Given the description of an element on the screen output the (x, y) to click on. 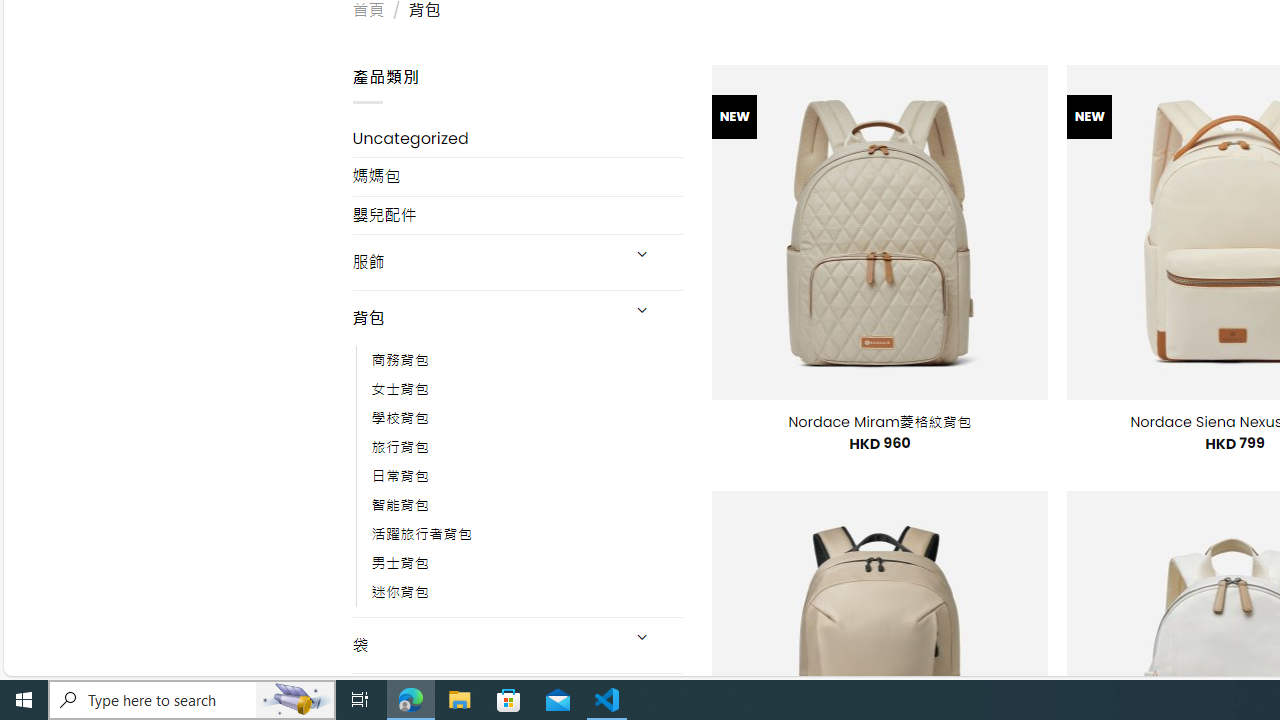
Uncategorized (517, 137)
Uncategorized (517, 137)
